Given the description of an element on the screen output the (x, y) to click on. 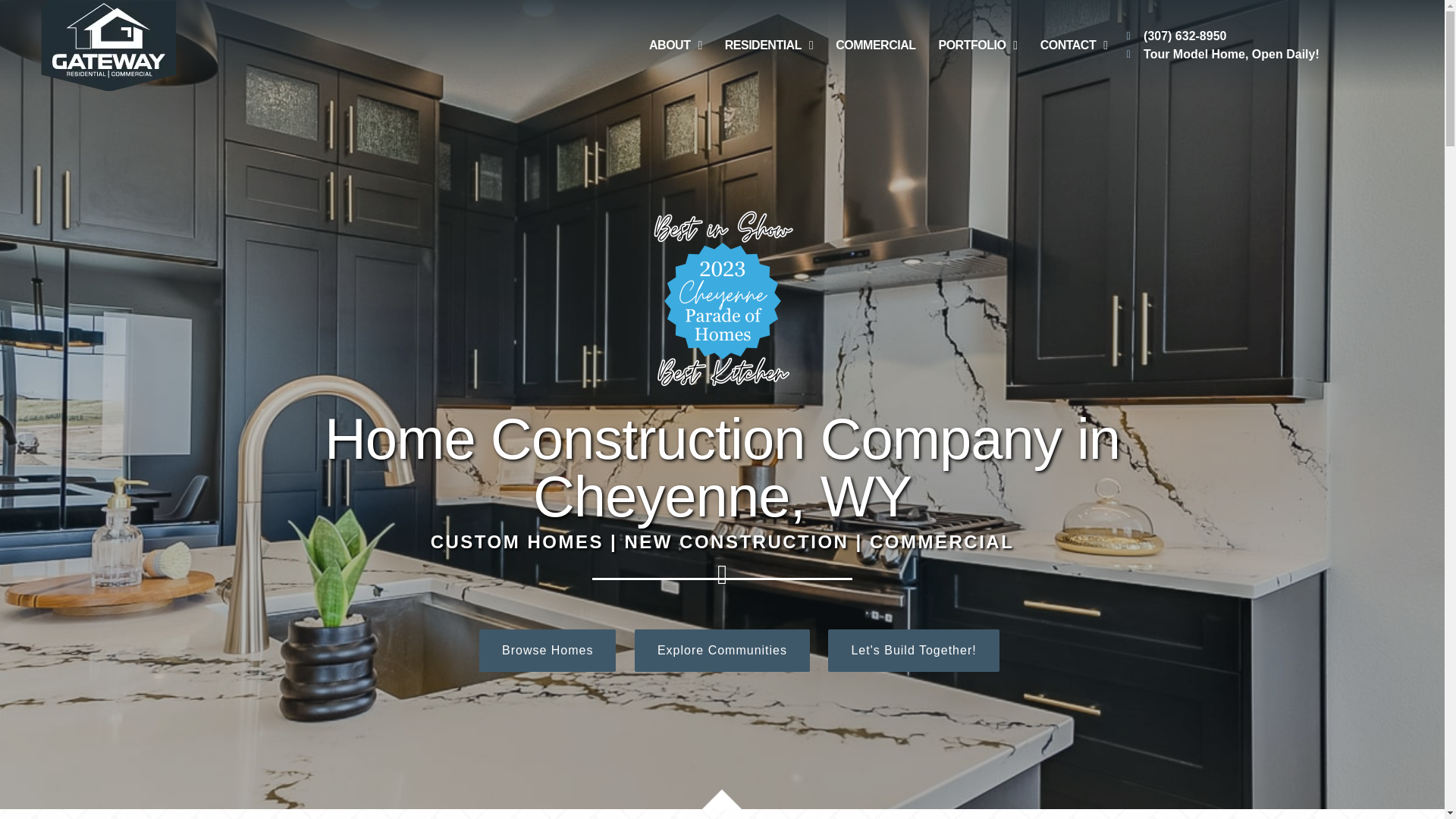
RESIDENTIAL (769, 45)
COMMERCIAL (875, 45)
ABOUT (675, 45)
PORTFOLIO (976, 45)
CONTACT (1074, 45)
